Given the description of an element on the screen output the (x, y) to click on. 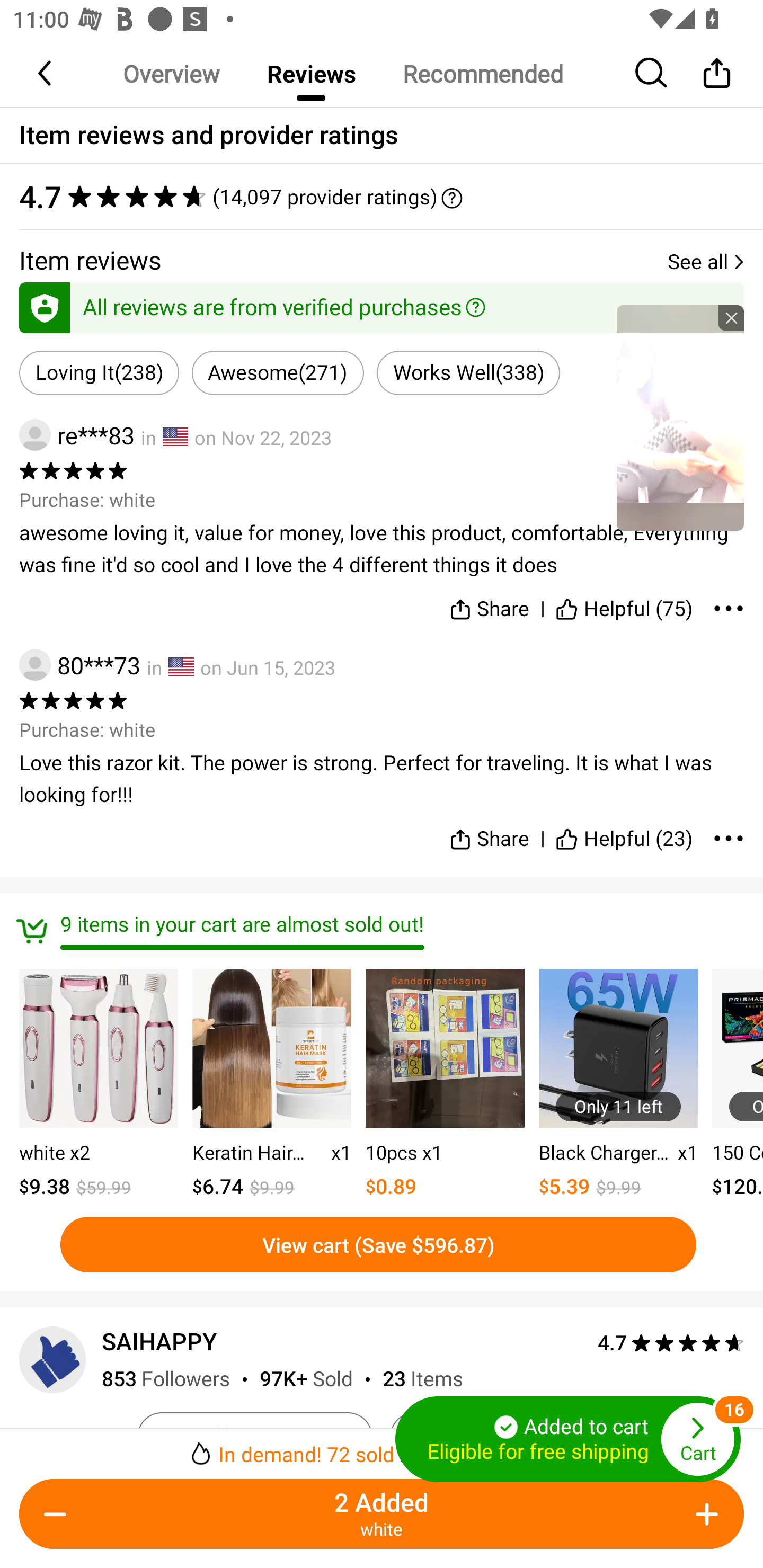
Overview (171, 72)
Reviews (311, 72)
Recommended (482, 72)
Back (46, 72)
Share (716, 72)
4.7 ‪(14,097 provider ratings) (381, 196)
All reviews are from verified purchases  (381, 303)
tronplayer_view (680, 417)
Loving It(238) (99, 373)
Awesome(271) (277, 373)
Works Well(338) (468, 373)
re***83 (76, 434)
  Share (489, 605)
  Helpful (75) (624, 605)
80***73 (79, 664)
  Share (489, 830)
  Helpful (23) (624, 830)
white  x2 $9.38 $59.99 (98, 1085)
Keratin Hair Mask 8.45oz  x1 $6.74 $9.99 (271, 1085)
10pcs  x1 $0.89 (444, 1085)
View cart (Save $596.87) (377, 1243)
￼ Added to cart Eligible for free shipping Cart (567, 1439)
Decrease Quantity Button (59, 1513)
Add Quantity button (703, 1513)
